Given the description of an element on the screen output the (x, y) to click on. 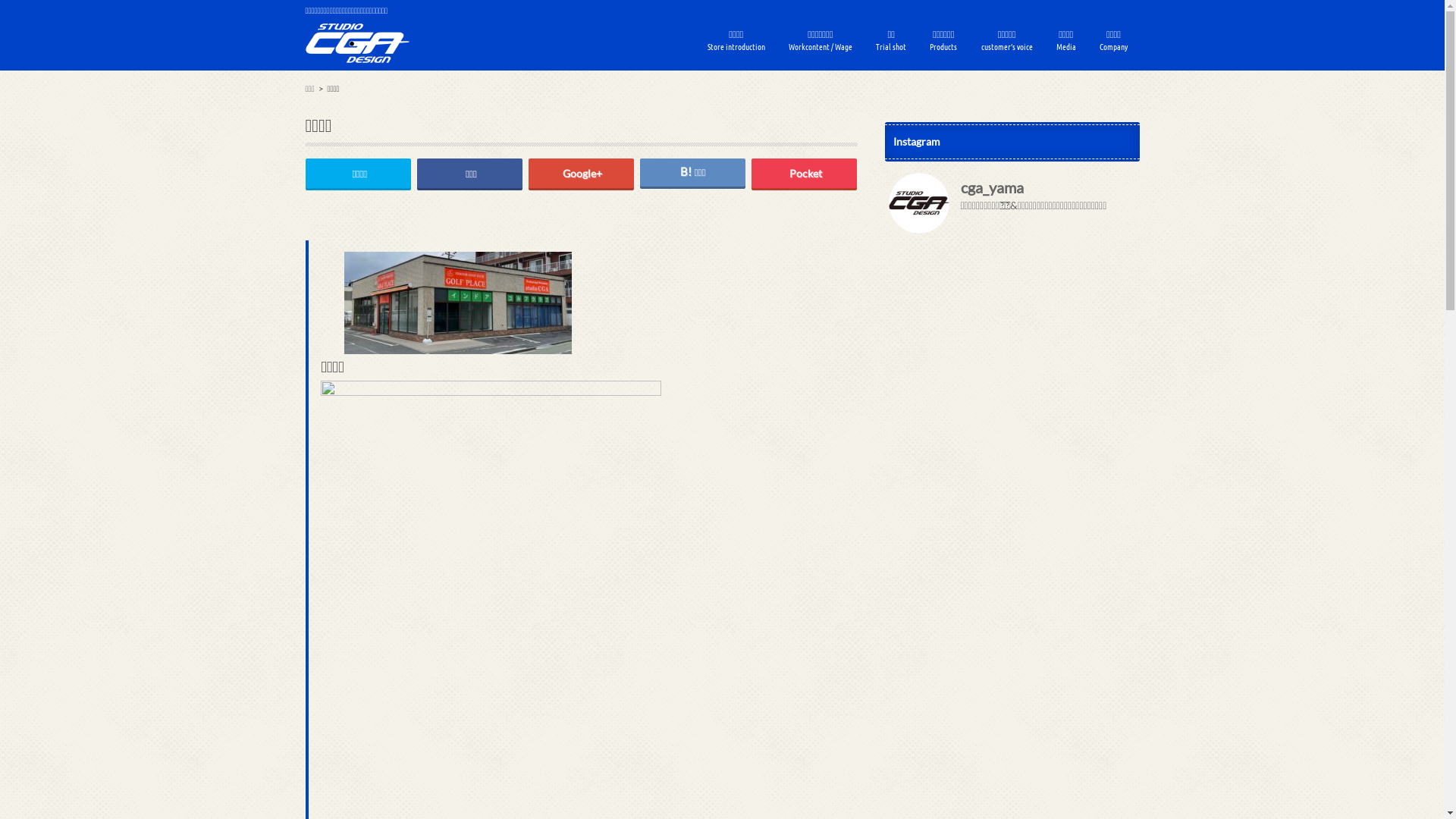
Google+ Element type: text (581, 172)
Pocket Element type: text (804, 172)
